Given the description of an element on the screen output the (x, y) to click on. 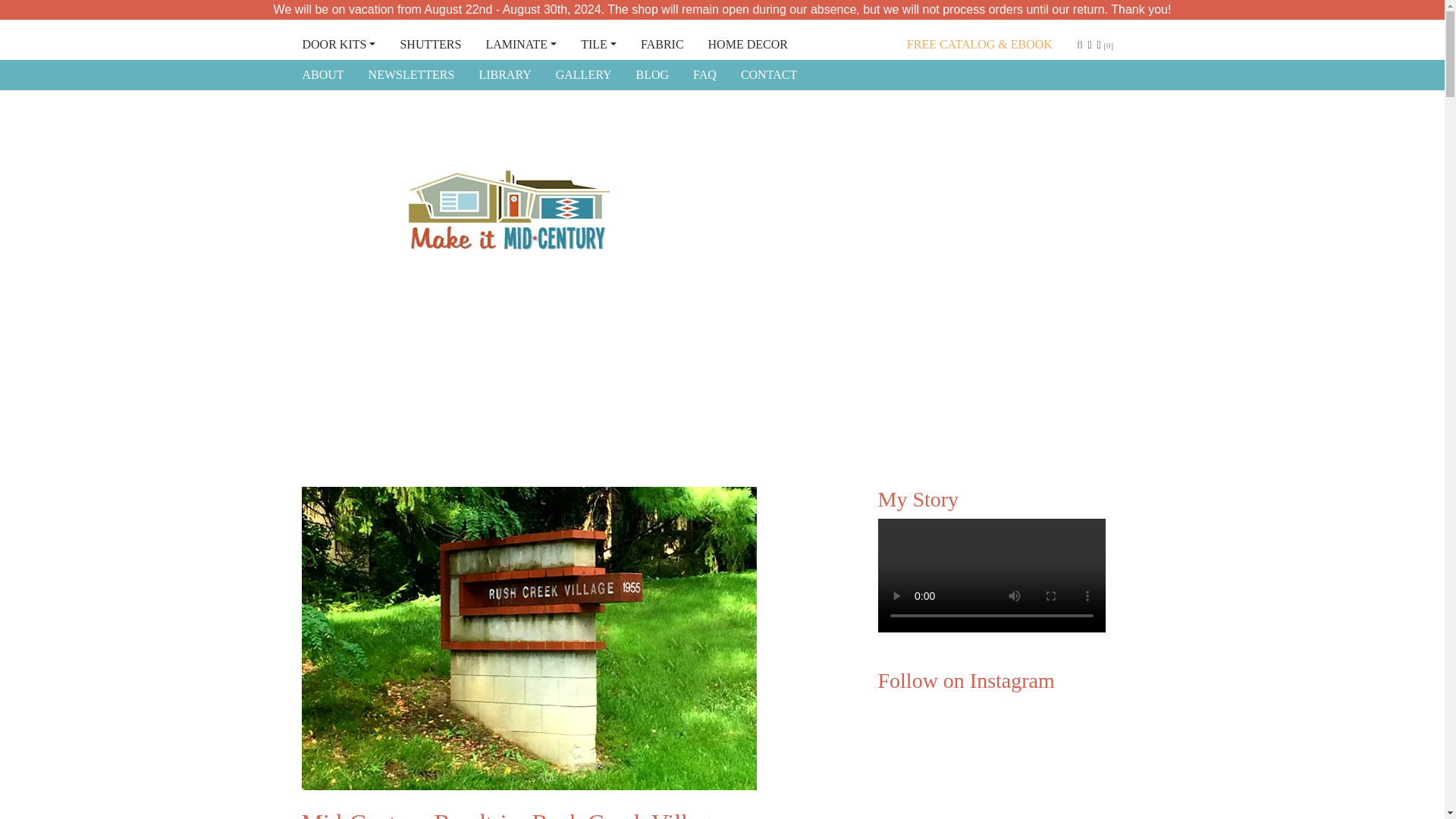
SHUTTERS (430, 44)
ABOUT (322, 74)
HOME DECOR (747, 44)
GALLERY (583, 74)
LIBRARY (504, 74)
Shutters (430, 44)
FABRIC (661, 44)
Fabric (661, 44)
Tile (598, 44)
TILE (598, 44)
